Given the description of an element on the screen output the (x, y) to click on. 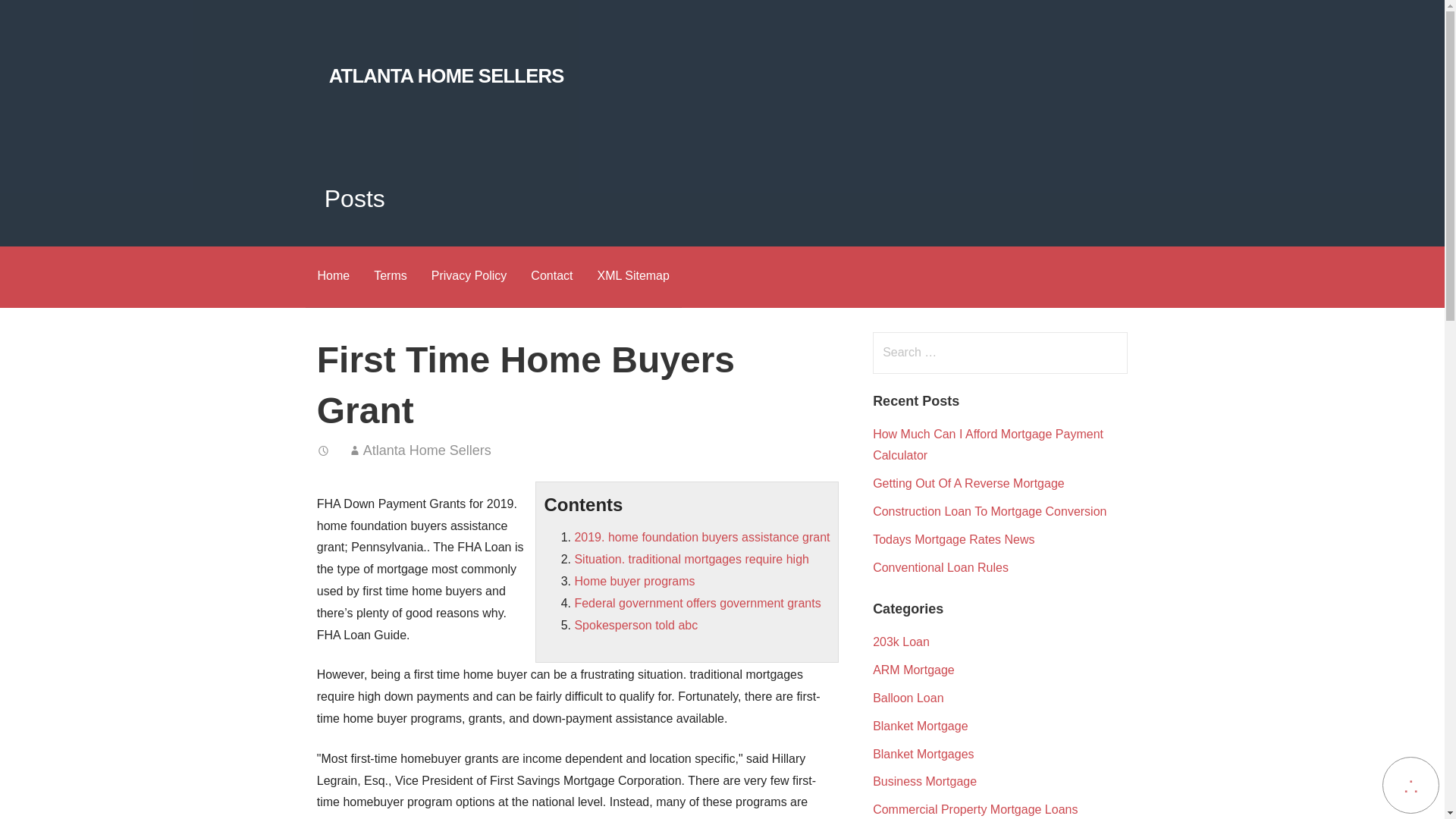
Spokesperson told abc (635, 625)
Getting Out Of A Reverse Mortgage (968, 482)
Todays Mortgage Rates News (952, 539)
Business Mortgage (924, 780)
Construction Loan To Mortgage Conversion (989, 511)
Situation. traditional mortgages require high (691, 558)
Posts by Atlanta Home Sellers (427, 450)
Search (42, 18)
Home (332, 276)
Balloon Loan (907, 697)
